Given the description of an element on the screen output the (x, y) to click on. 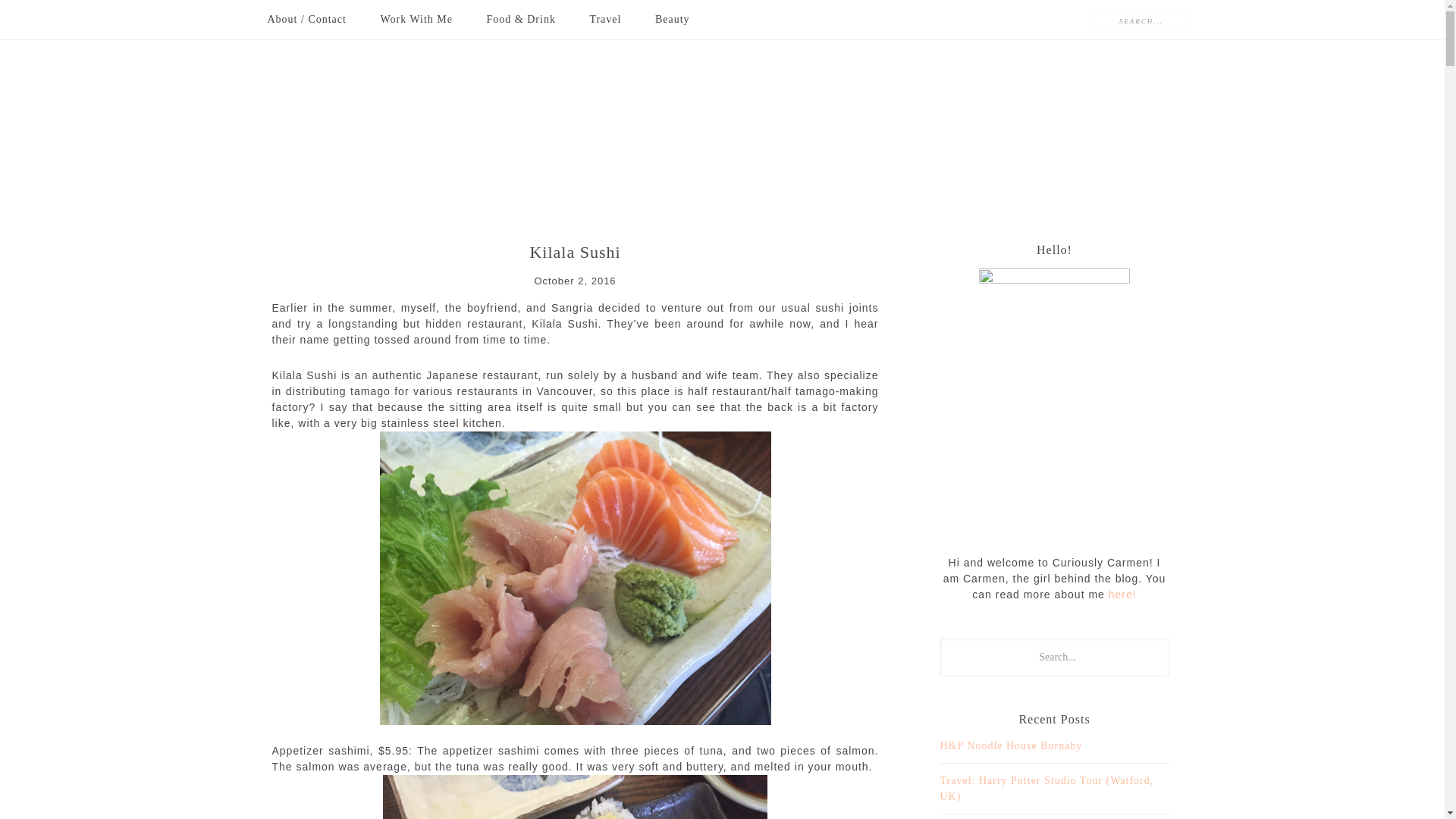
Travel (604, 19)
Work With Me (416, 19)
